Given the description of an element on the screen output the (x, y) to click on. 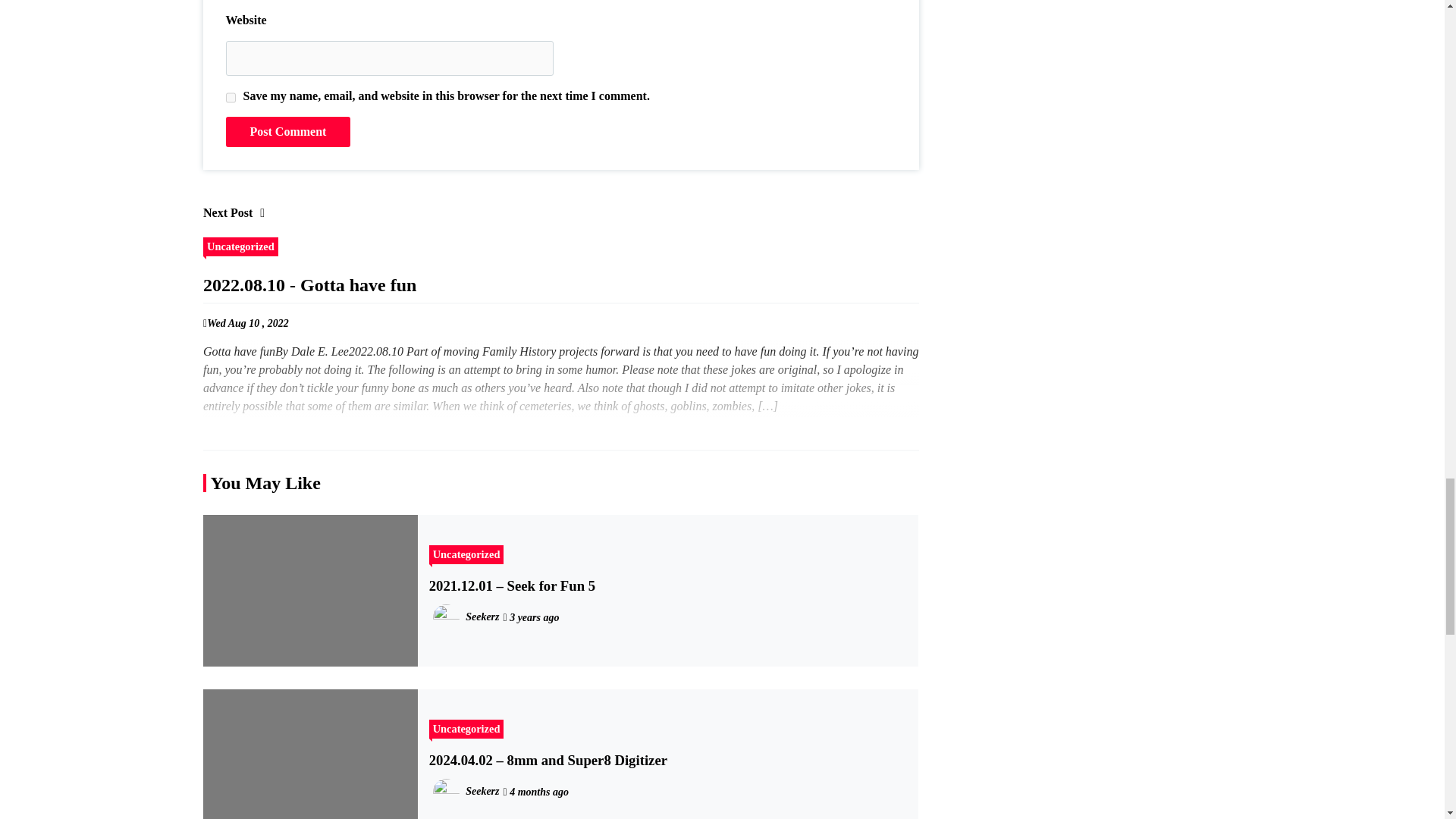
yes (230, 97)
Post Comment (287, 132)
